Given the description of an element on the screen output the (x, y) to click on. 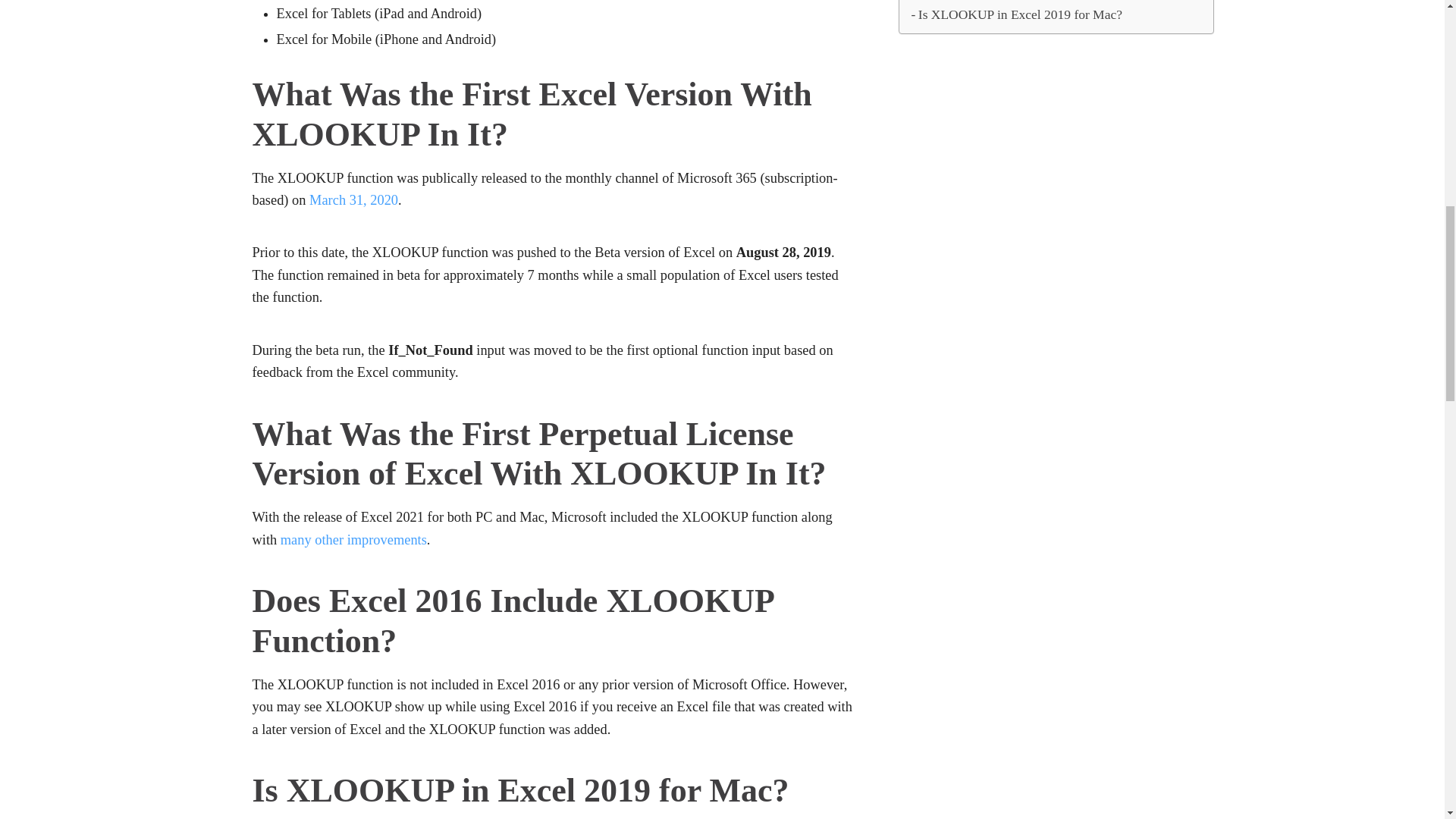
March 31, 2020 (352, 200)
Does Excel 2016 Include XLOOKUP Function? (1042, 2)
Does Excel 2016 Include XLOOKUP Function? (1042, 2)
Is XLOOKUP in Excel 2019 for Mac? (1016, 14)
many other improvements (353, 539)
Is XLOOKUP in Excel 2019 for Mac? (1016, 14)
